Given the description of an element on the screen output the (x, y) to click on. 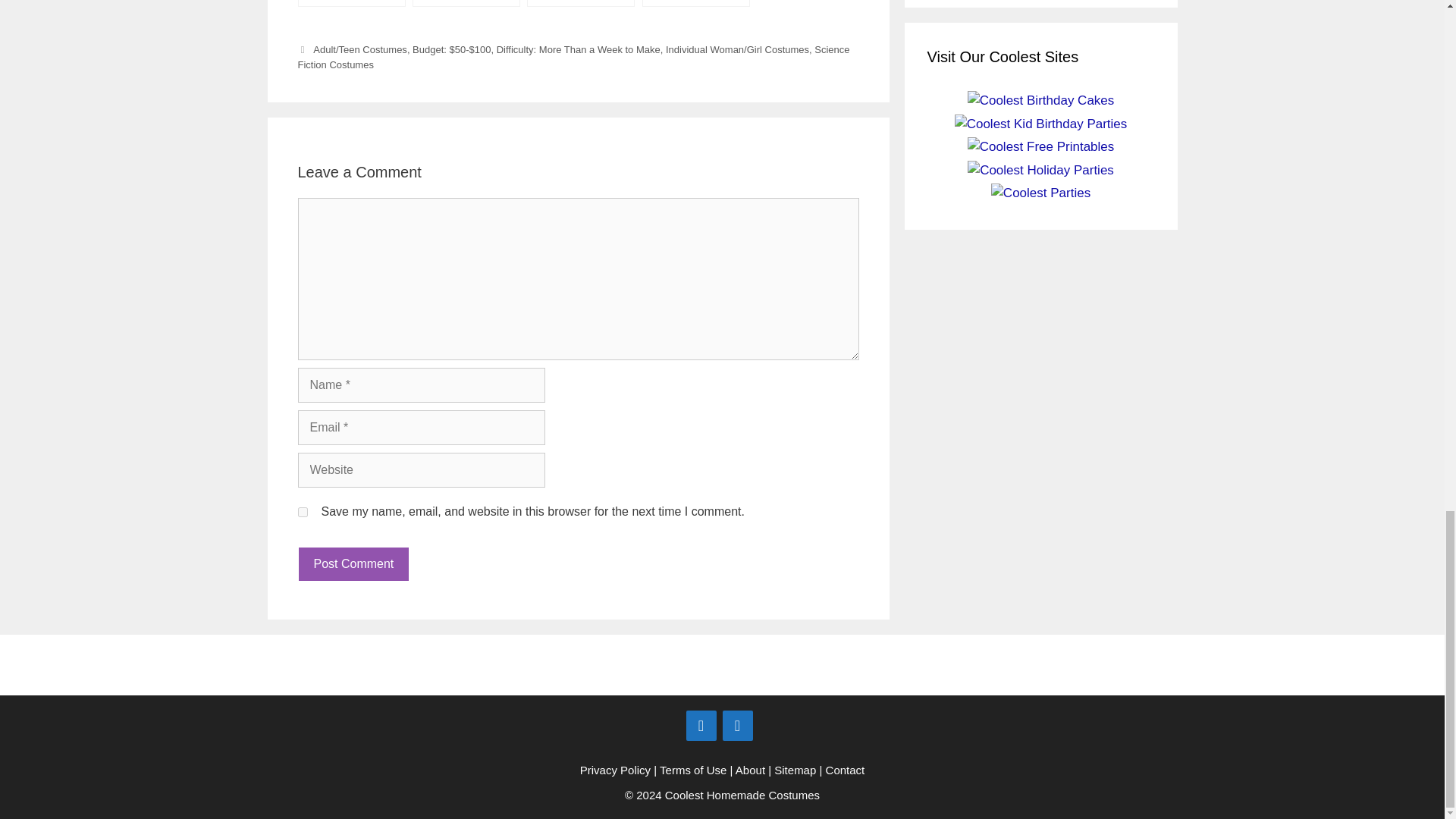
ComiCon Costume for the Tallest Steampunk Elf Imaginable (350, 3)
Post Comment (353, 564)
yes (302, 511)
Facebook (700, 725)
Awesome DIY Steampunk Ursula Costume is Making Waves (695, 3)
Instagram (737, 725)
